Given the description of an element on the screen output the (x, y) to click on. 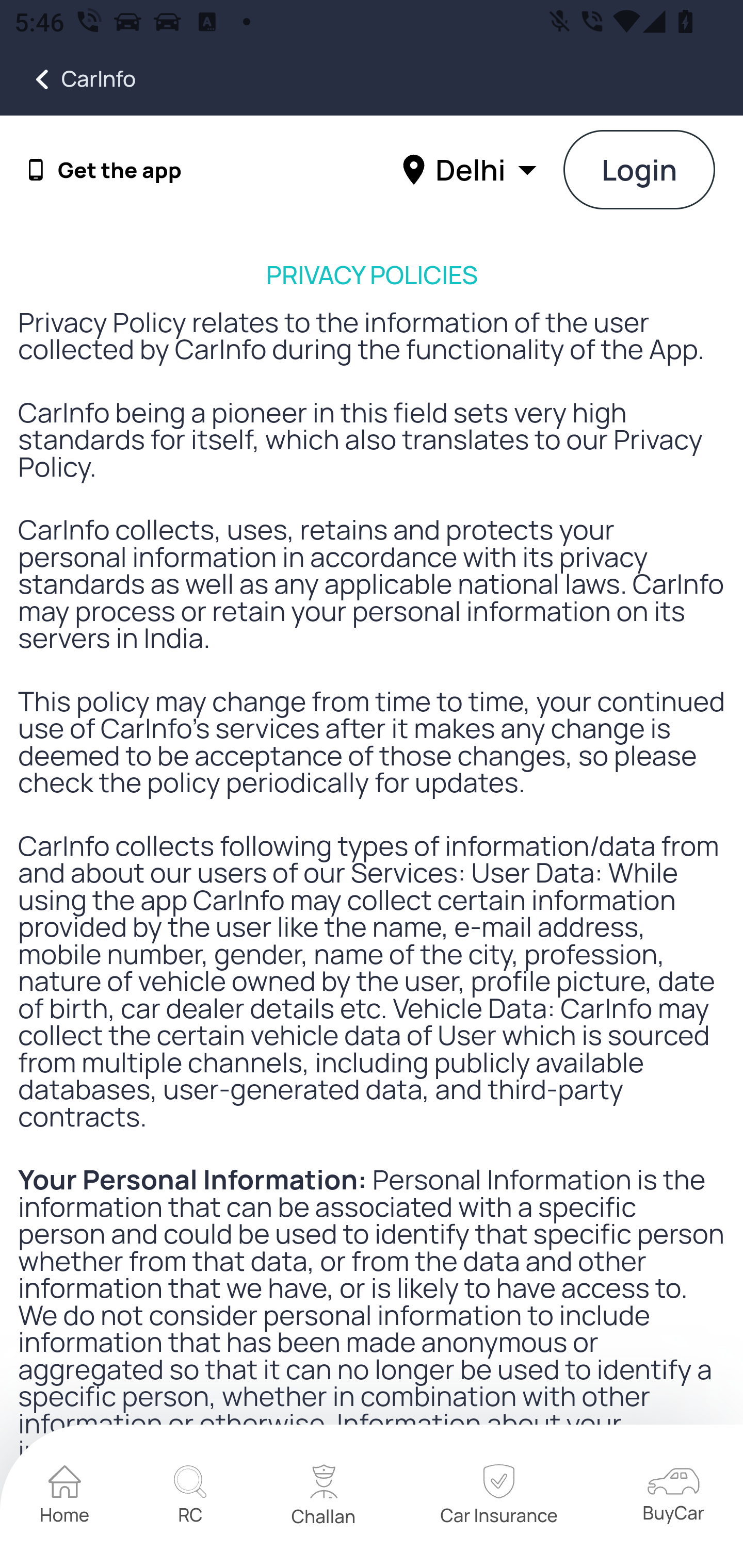
CarInfo (67, 79)
Login (639, 170)
Delhi (471, 169)
Get the app (119, 170)
home Challan home Challan (323, 1496)
home Home home Home (64, 1496)
home RC home RC (190, 1496)
home Car Insurance home Car Insurance (497, 1497)
home BuyCar home BuyCar (672, 1496)
